Given the description of an element on the screen output the (x, y) to click on. 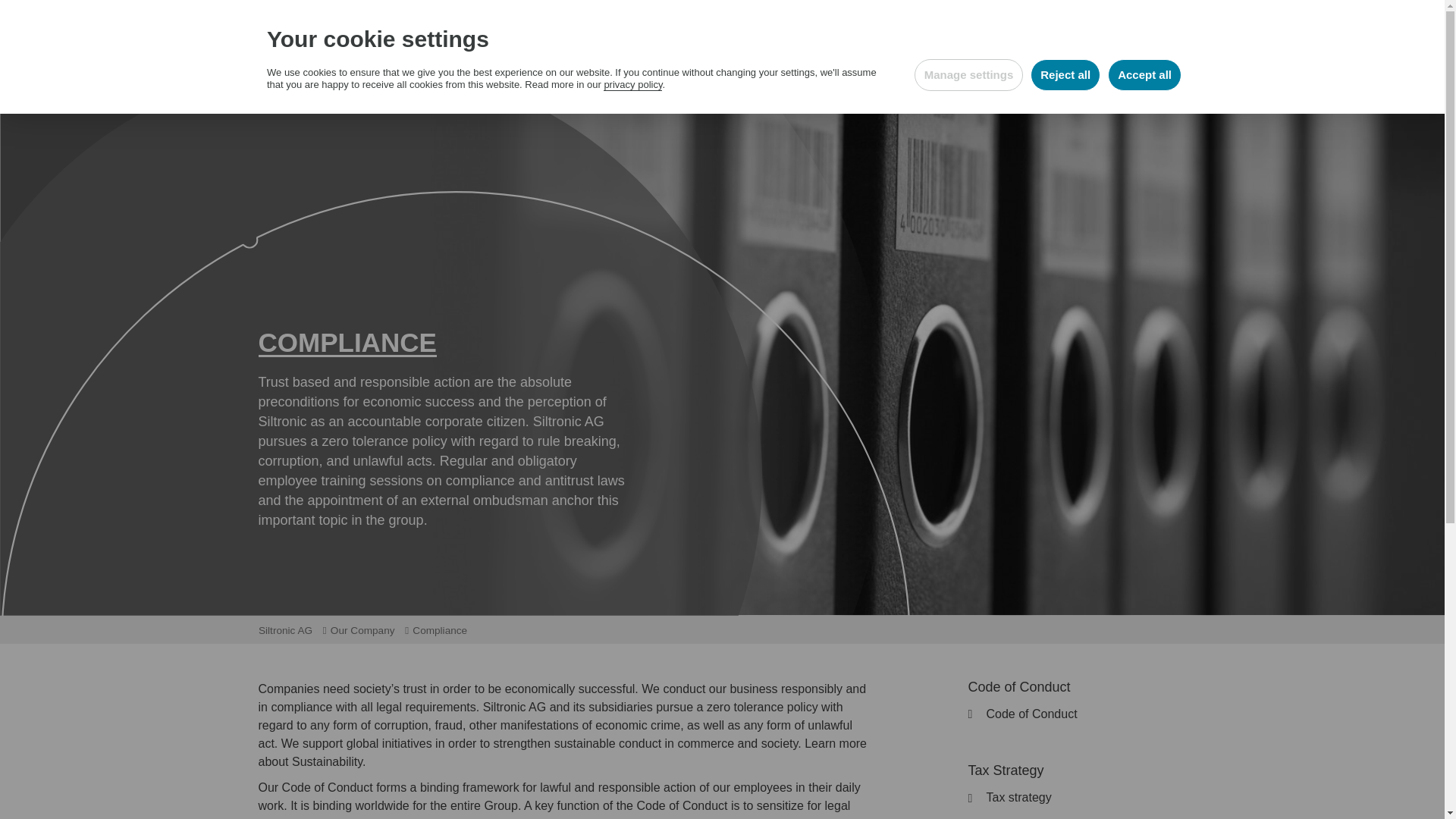
Products (737, 61)
Our Company (831, 61)
Career (1024, 61)
Sites (881, 28)
Contact (839, 28)
Siltronic AG (289, 631)
Investors (1095, 61)
Our Company (368, 631)
Sustainability (938, 61)
